Given the description of an element on the screen output the (x, y) to click on. 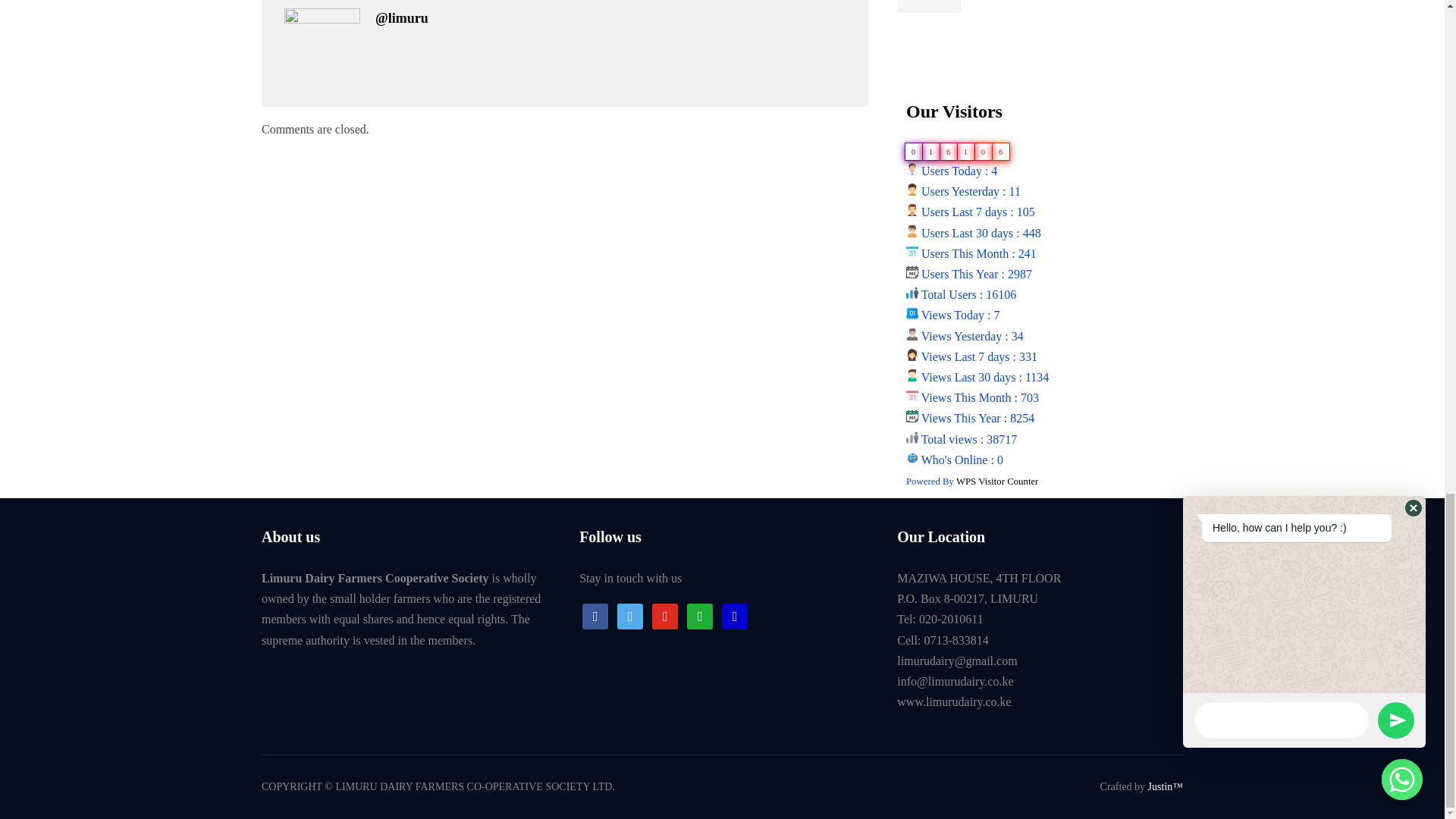
Default Label (700, 615)
Friend me on Facebook (595, 615)
Follow Me (630, 615)
Default Label (735, 615)
